Given the description of an element on the screen output the (x, y) to click on. 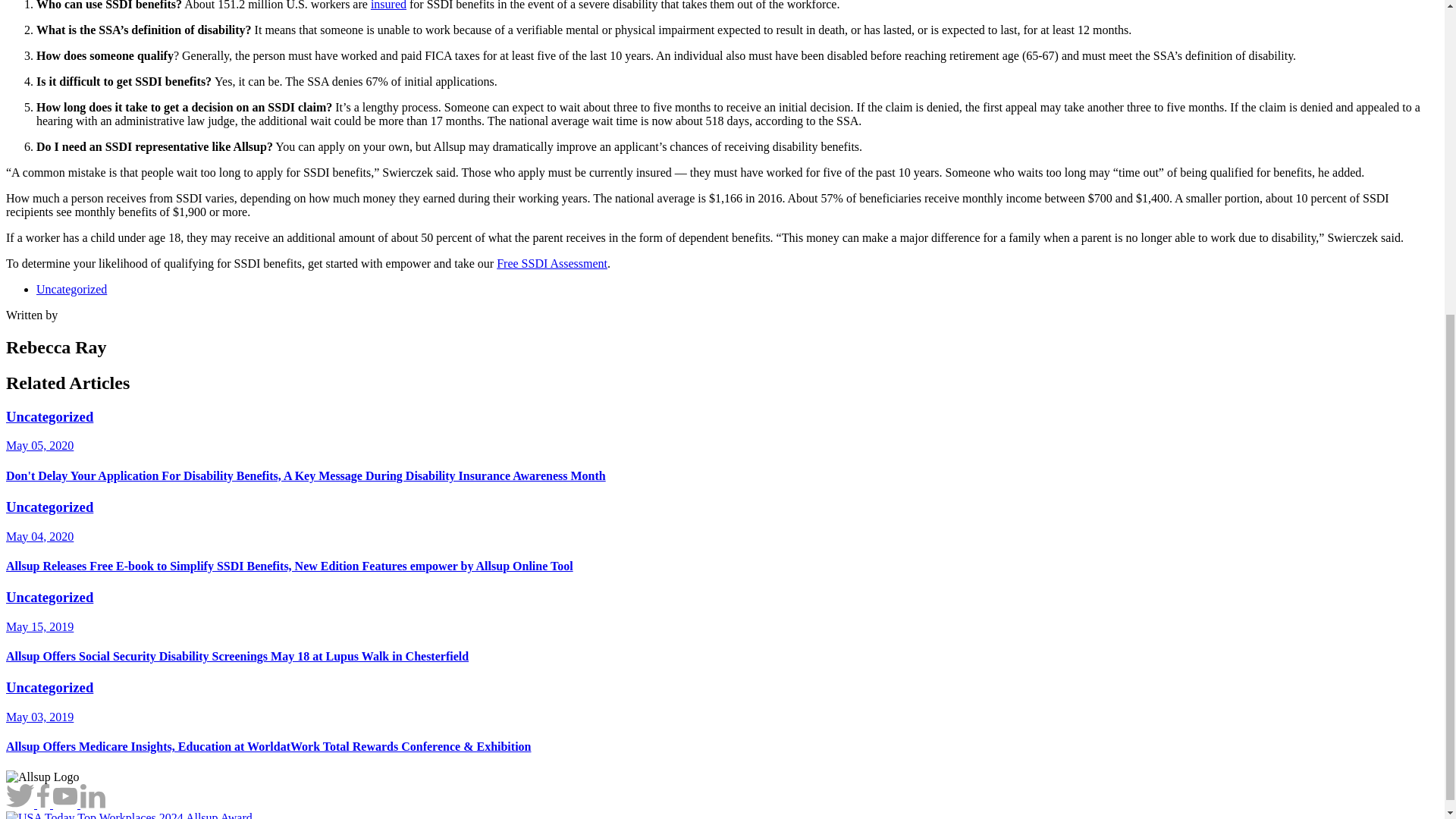
YouTube (66, 803)
Free SSDI Assessment (551, 263)
Twitter (21, 803)
insured (388, 5)
Uncategorized (71, 288)
View Articles with Tag Uncategorized (71, 288)
Facebook (44, 803)
